Given the description of an element on the screen output the (x, y) to click on. 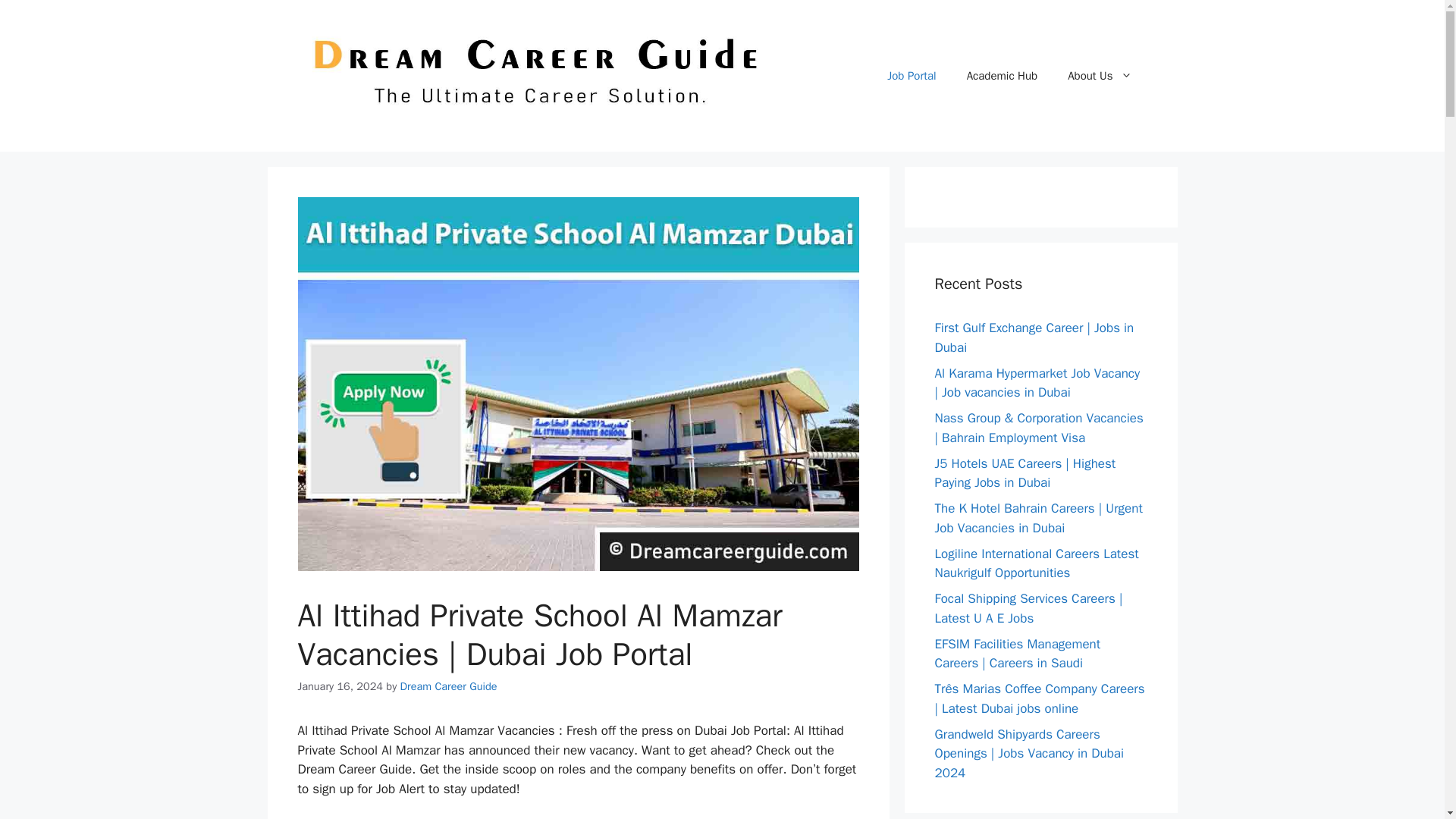
Dream Career Guide (448, 685)
View all posts by Dream Career Guide (448, 685)
Job Portal (911, 75)
About Us (1099, 75)
Academic Hub (1002, 75)
